Given the description of an element on the screen output the (x, y) to click on. 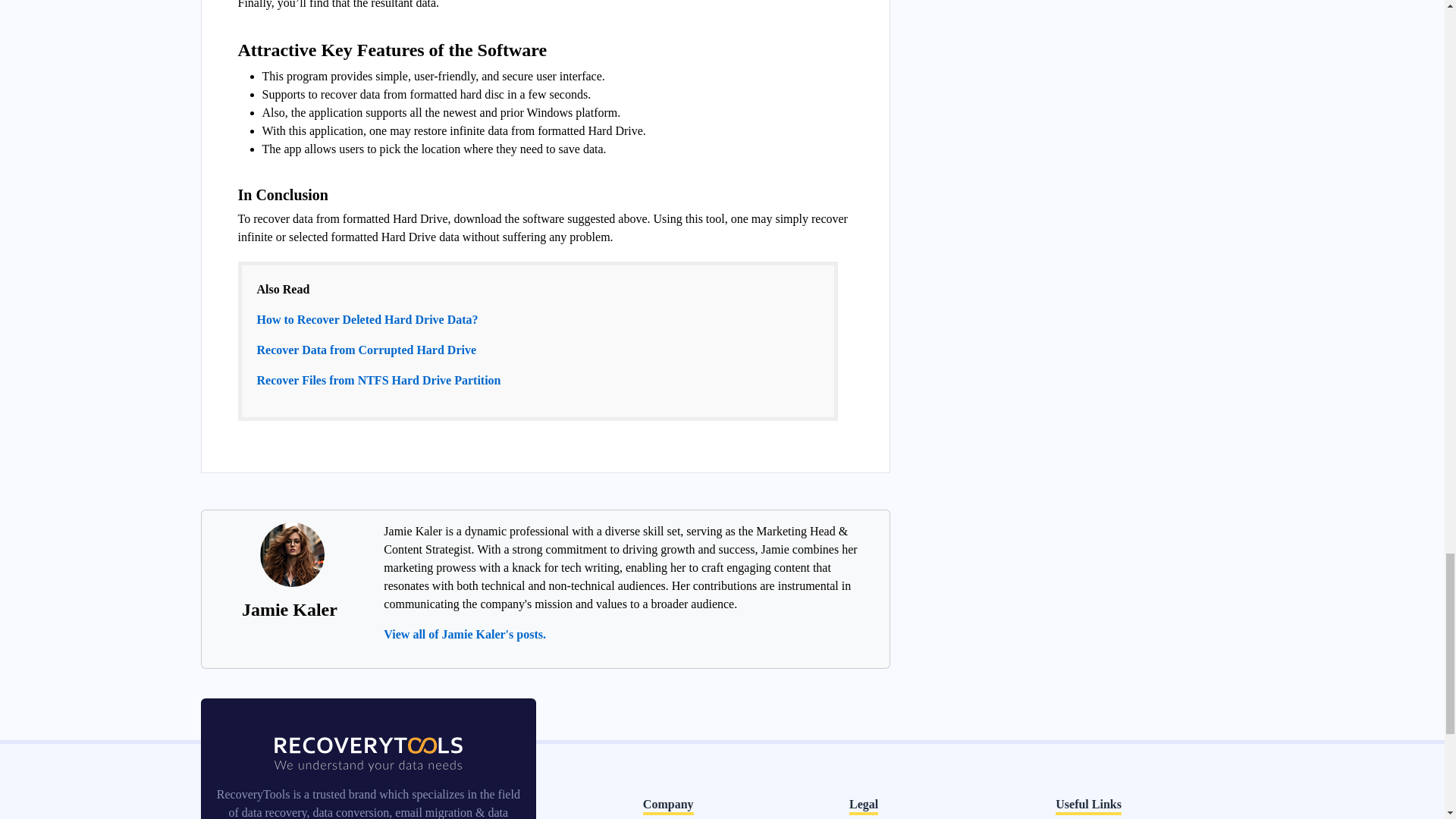
Recover Files from NTFS Hard Drive Partition (378, 379)
View all of Jamie Kaler's posts. (465, 634)
How to Recover Deleted Hard Drive Data? (366, 318)
Recover Data from Corrupted Hard Drive (366, 349)
